Given the description of an element on the screen output the (x, y) to click on. 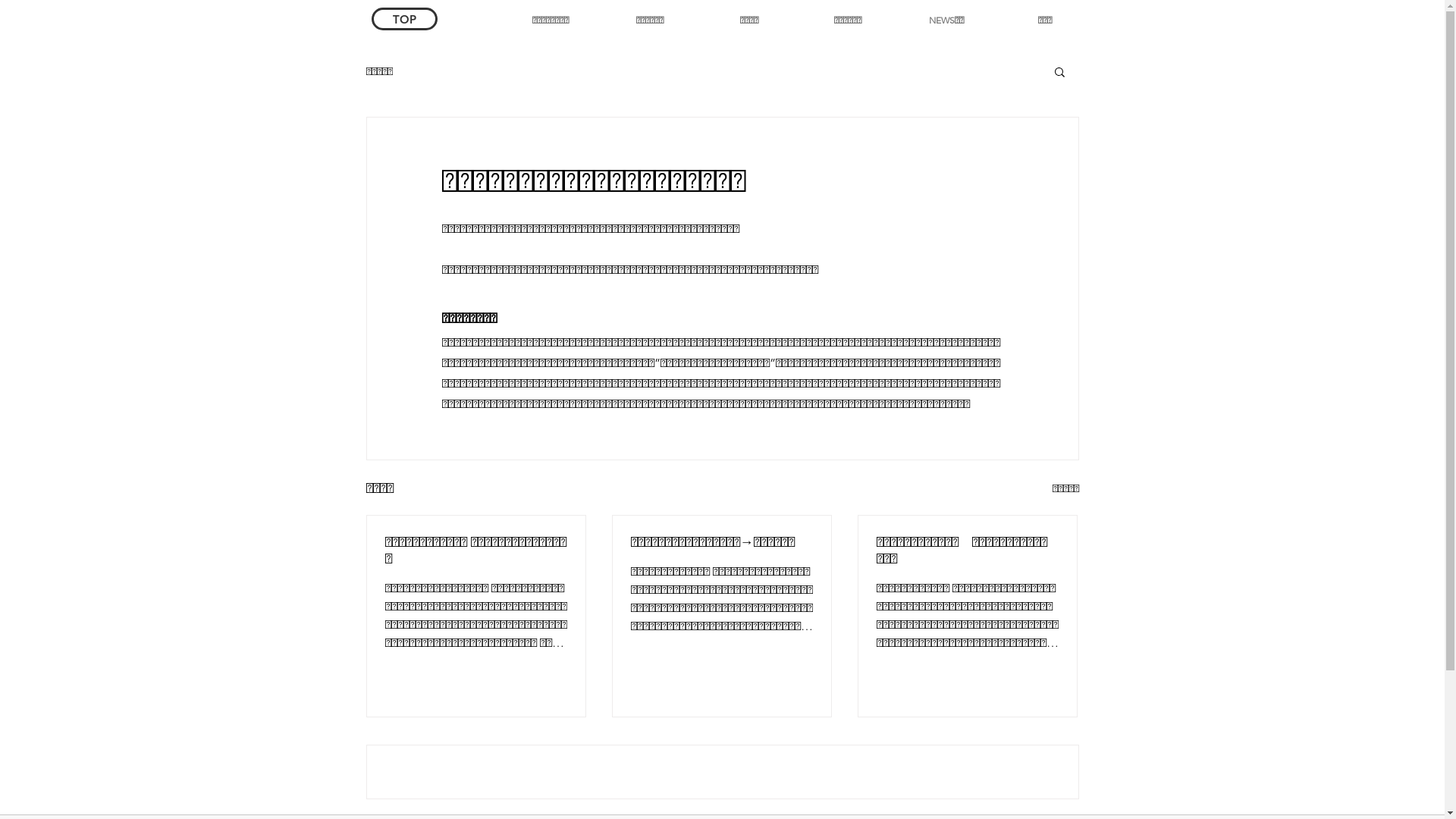
TOP Element type: text (404, 18)
